Given the description of an element on the screen output the (x, y) to click on. 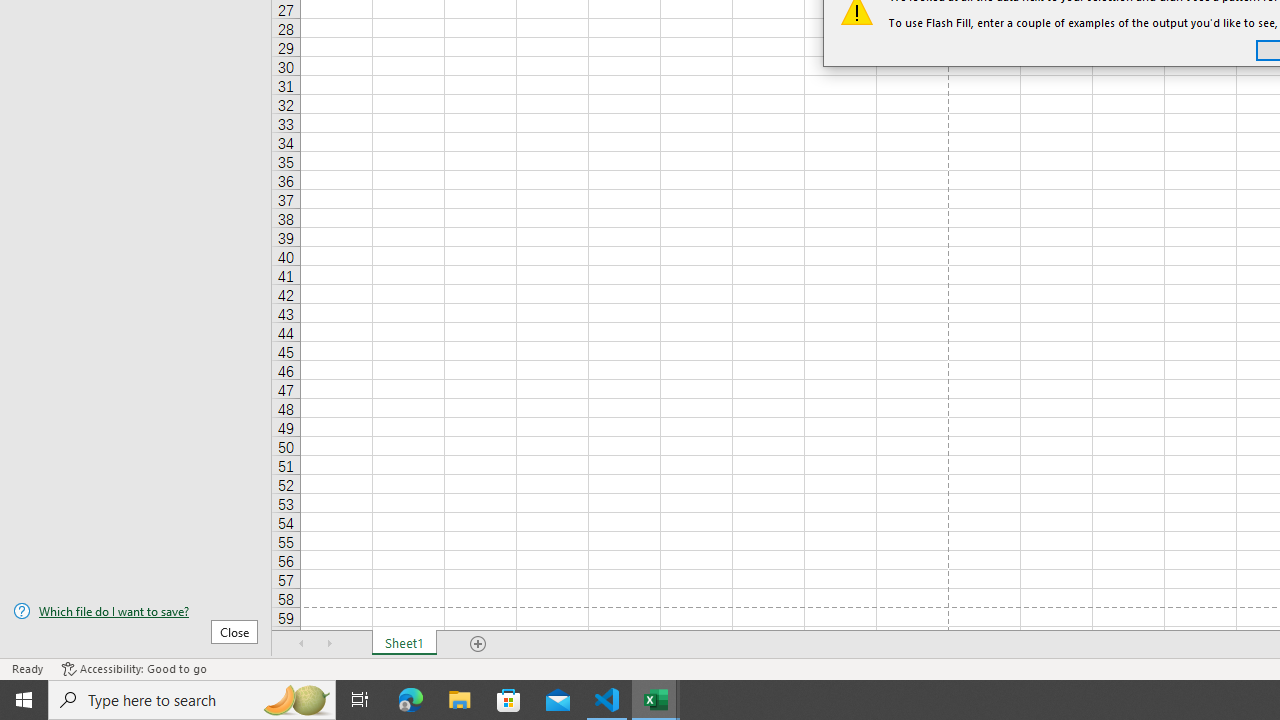
Visual Studio Code - 1 running window (607, 699)
File Explorer (460, 699)
Type here to search (191, 699)
Excel - 2 running windows (656, 699)
Task View (359, 699)
Search highlights icon opens search home window (295, 699)
Microsoft Store (509, 699)
Microsoft Edge (411, 699)
